Given the description of an element on the screen output the (x, y) to click on. 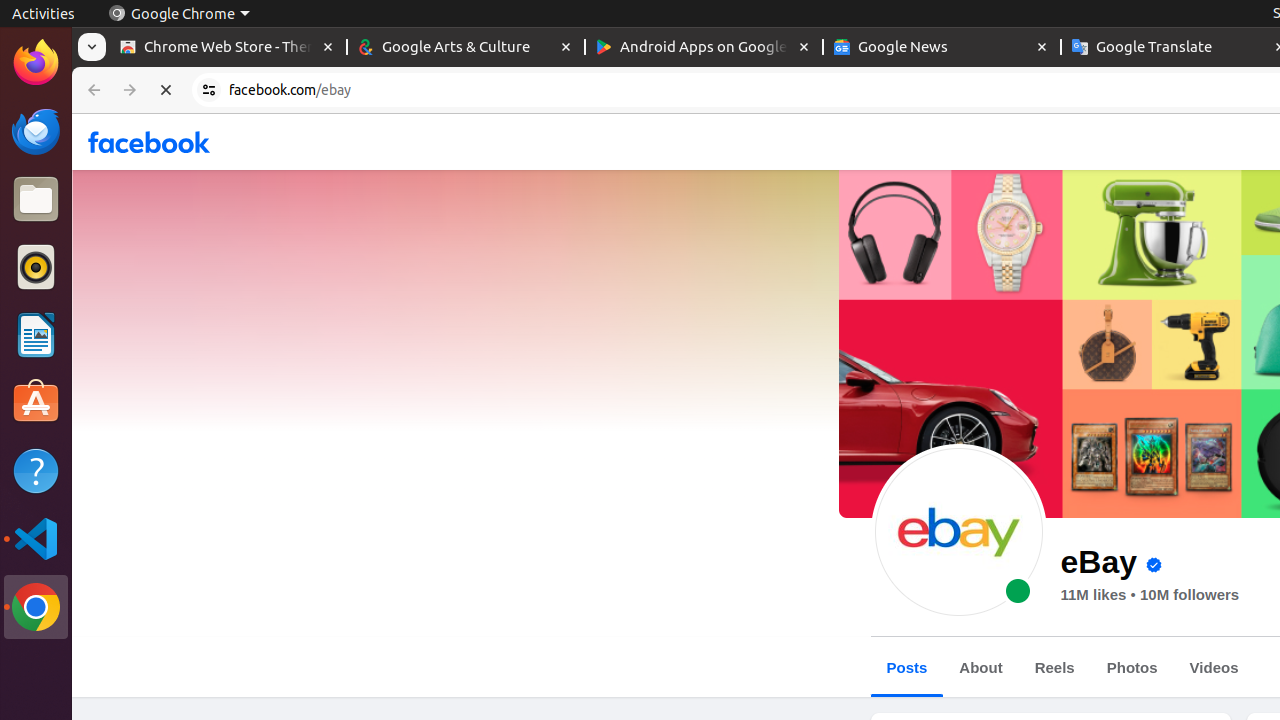
Firefox Web Browser Element type: push-button (36, 63)
Reels Element type: page-tab (1054, 667)
Files Element type: push-button (36, 199)
Rhythmbox Element type: push-button (36, 267)
Google Chrome Element type: push-button (36, 607)
